Given the description of an element on the screen output the (x, y) to click on. 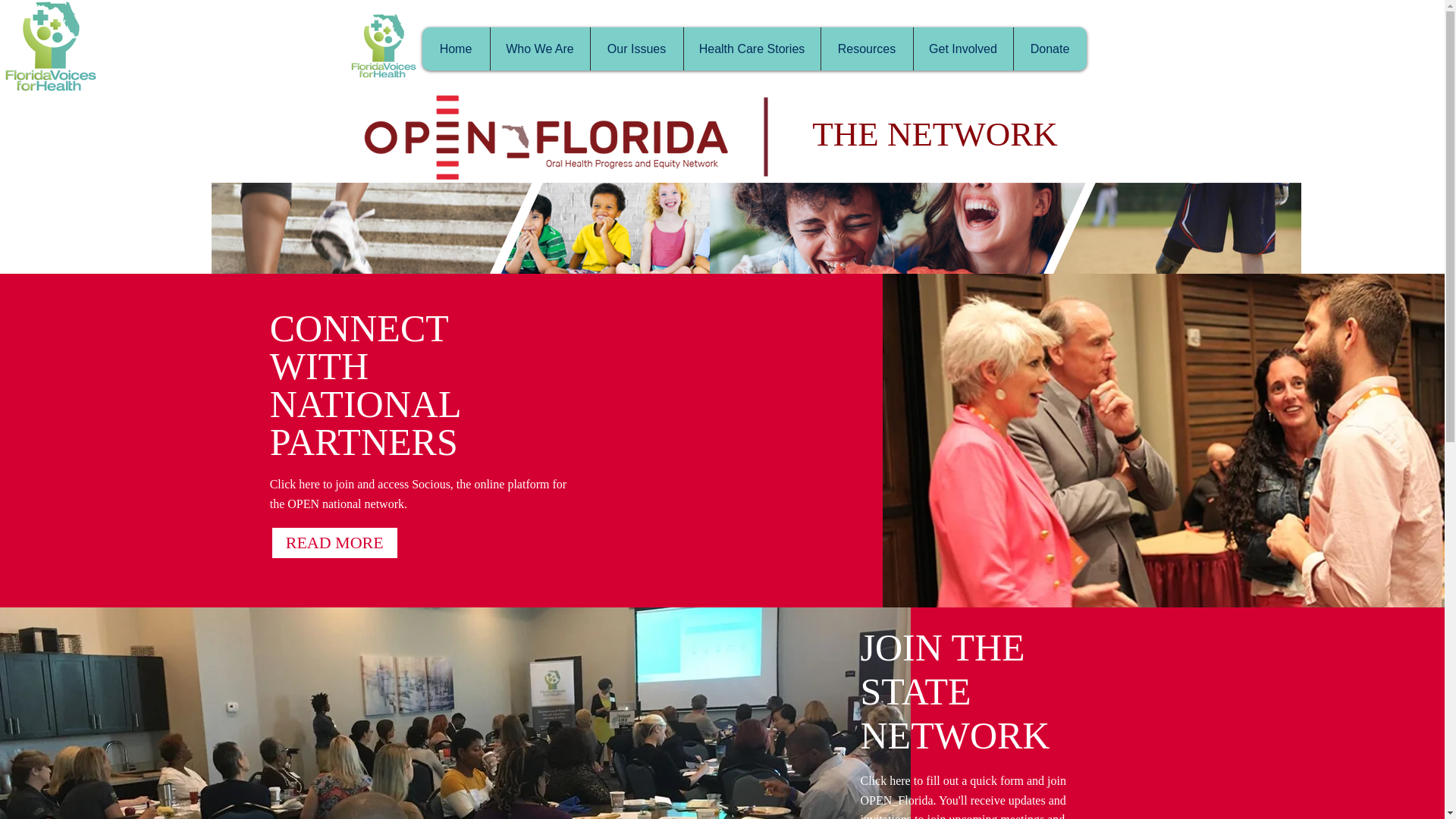
Donate (1049, 48)
Resources (866, 48)
Our Issues (635, 48)
READ MORE (333, 542)
Get Involved (962, 48)
Who We Are (539, 48)
Home (455, 48)
Health Care Stories (750, 48)
